Given the description of an element on the screen output the (x, y) to click on. 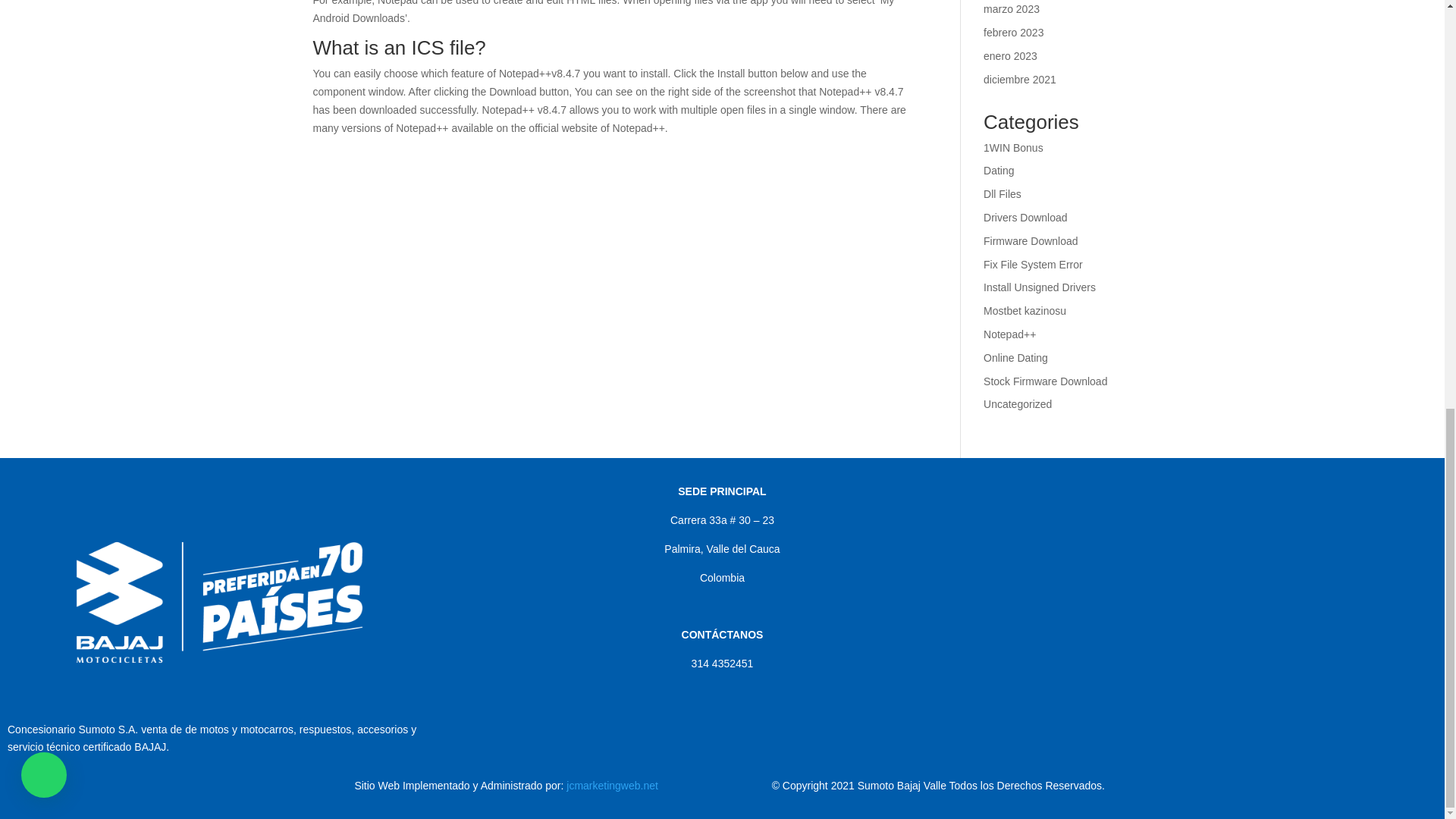
febrero 2023 (1013, 32)
diciembre 2021 (1020, 79)
Drivers Download (1025, 217)
Dating (998, 170)
Online Dating (1016, 357)
jcmarketingweb.net (612, 785)
enero 2023 (1010, 55)
Stock Firmware Download (1045, 381)
Uncategorized (1017, 404)
Install Unsigned Drivers (1040, 287)
1WIN Bonus (1013, 147)
Dll Files (1003, 193)
marzo 2023 (1011, 9)
Fix File System Error (1033, 264)
Mostbet kazinosu (1024, 310)
